Given the description of an element on the screen output the (x, y) to click on. 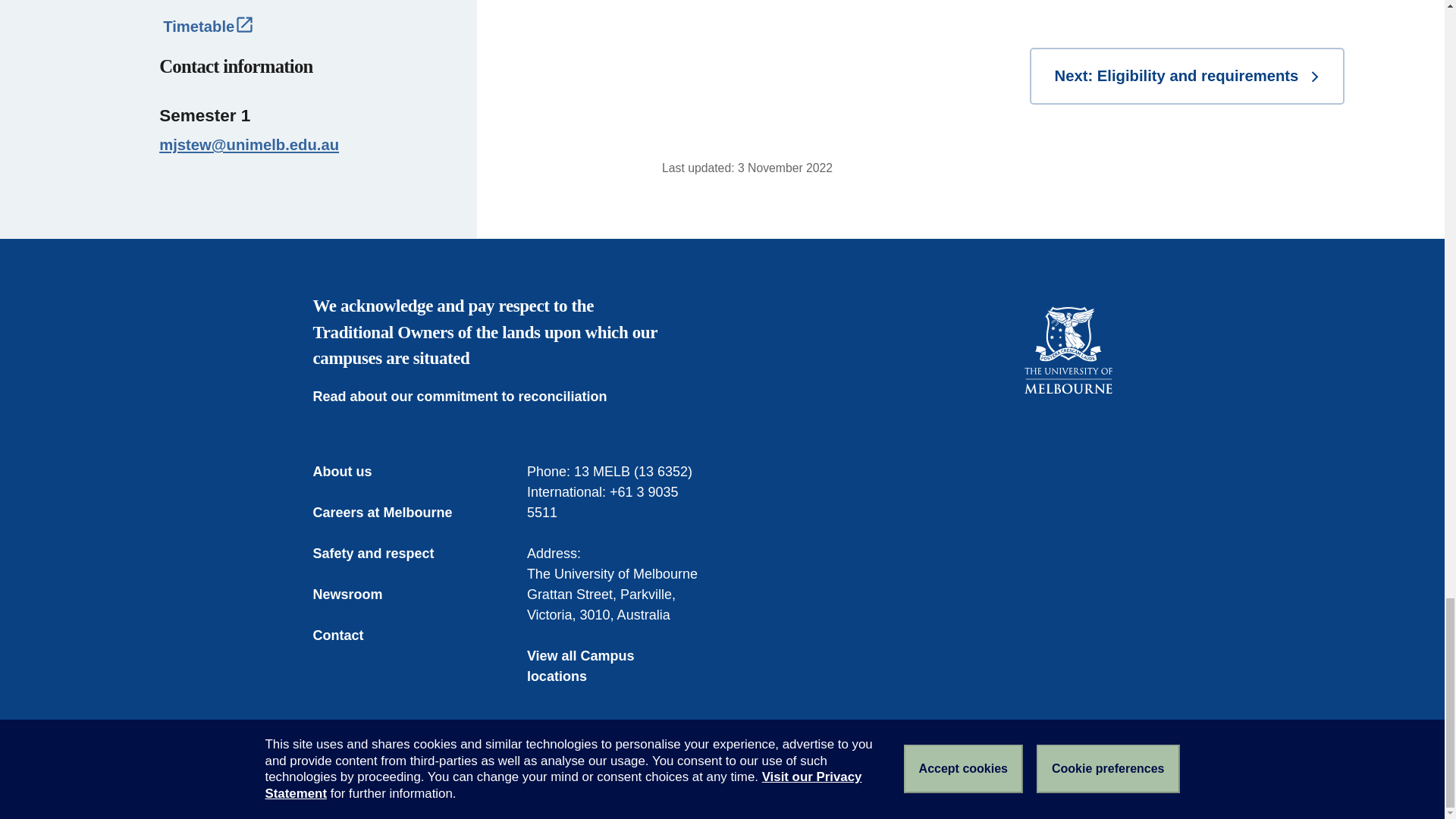
Emergency (345, 780)
Newsroom (358, 594)
View all Campus locations (615, 666)
About us (353, 471)
Accessibility (532, 780)
Contact (349, 635)
Next: Eligibility and requirements (1186, 75)
Safety and respect (384, 553)
Careers at Melbourne (393, 512)
Read about our commitment to reconciliation (470, 396)
Privacy (604, 780)
